Given the description of an element on the screen output the (x, y) to click on. 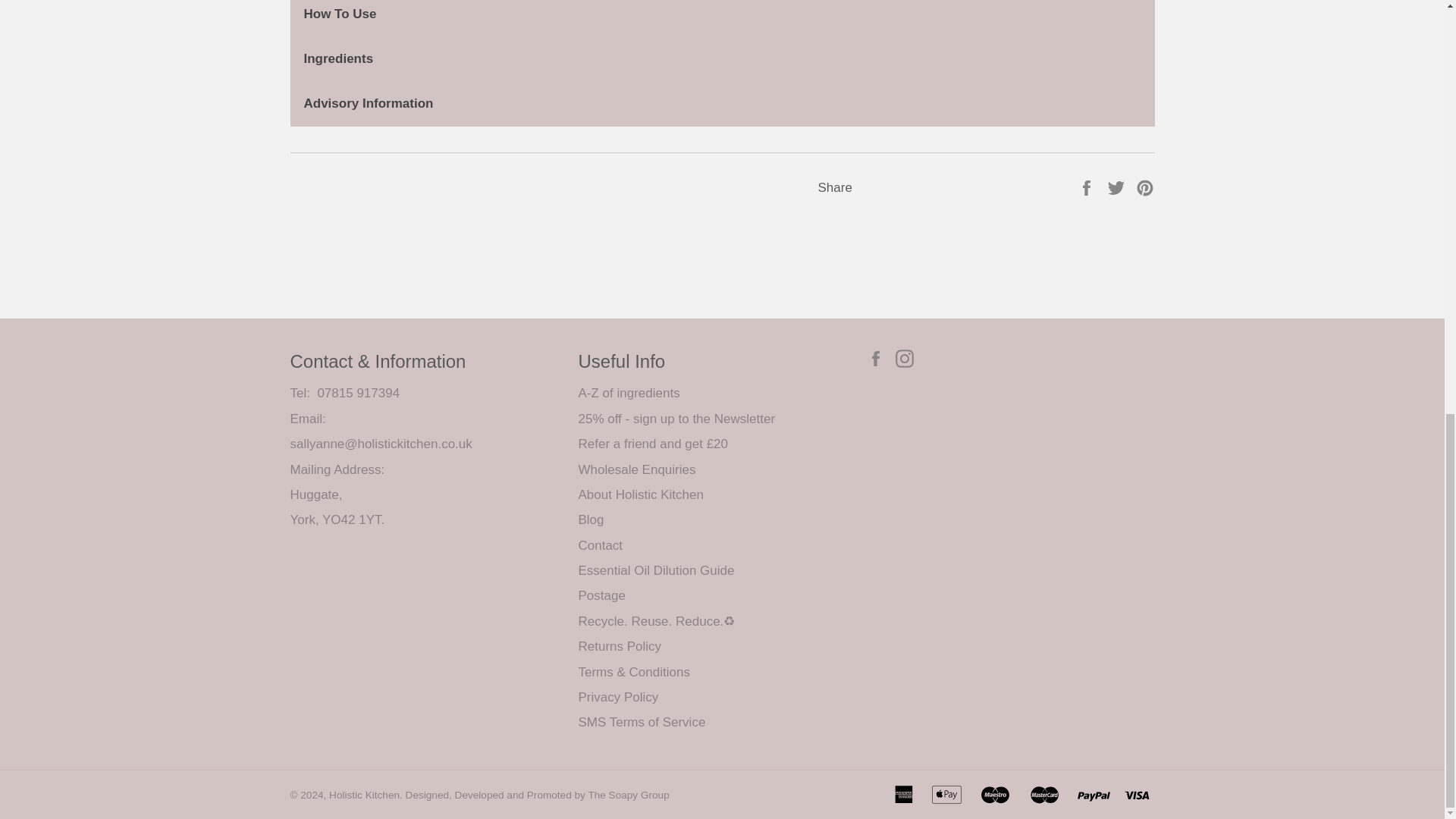
Tweet on Twitter (1117, 187)
Holistic Kitchen on Facebook (878, 357)
Pin on Pinterest (1144, 187)
Share on Facebook (1088, 187)
Holistic Kitchen on Instagram (908, 357)
